Given the description of an element on the screen output the (x, y) to click on. 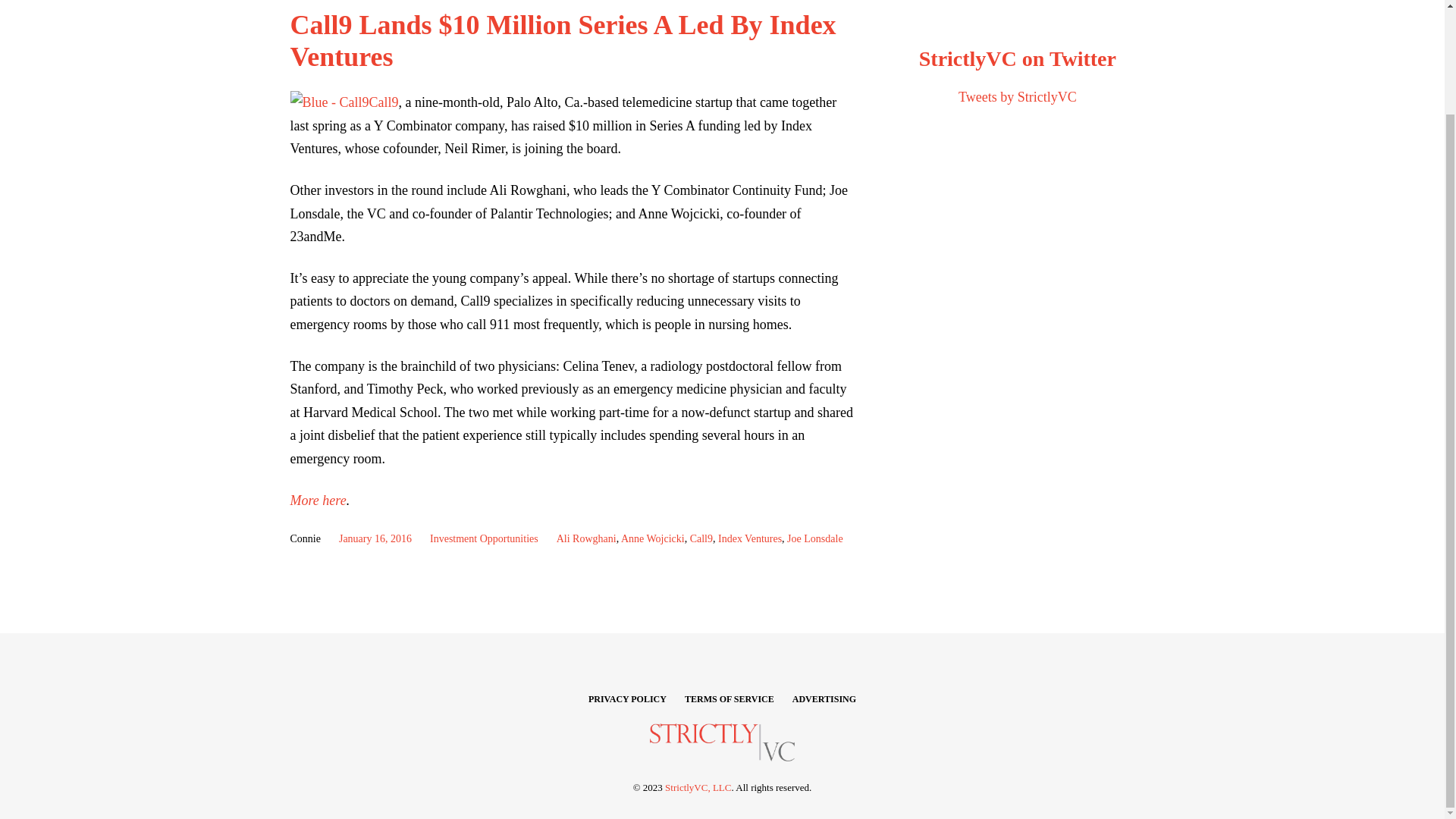
Anne Wojcicki (652, 538)
Index Ventures (749, 538)
Ali Rowghani (585, 538)
PRIVACY POLICY (627, 699)
StrictlyVC, LLC (697, 787)
Tweets by StrictlyVC (1017, 96)
January 16, 2016 (375, 538)
More here (317, 499)
Joe Lonsdale (815, 538)
Call9 (701, 538)
